Given the description of an element on the screen output the (x, y) to click on. 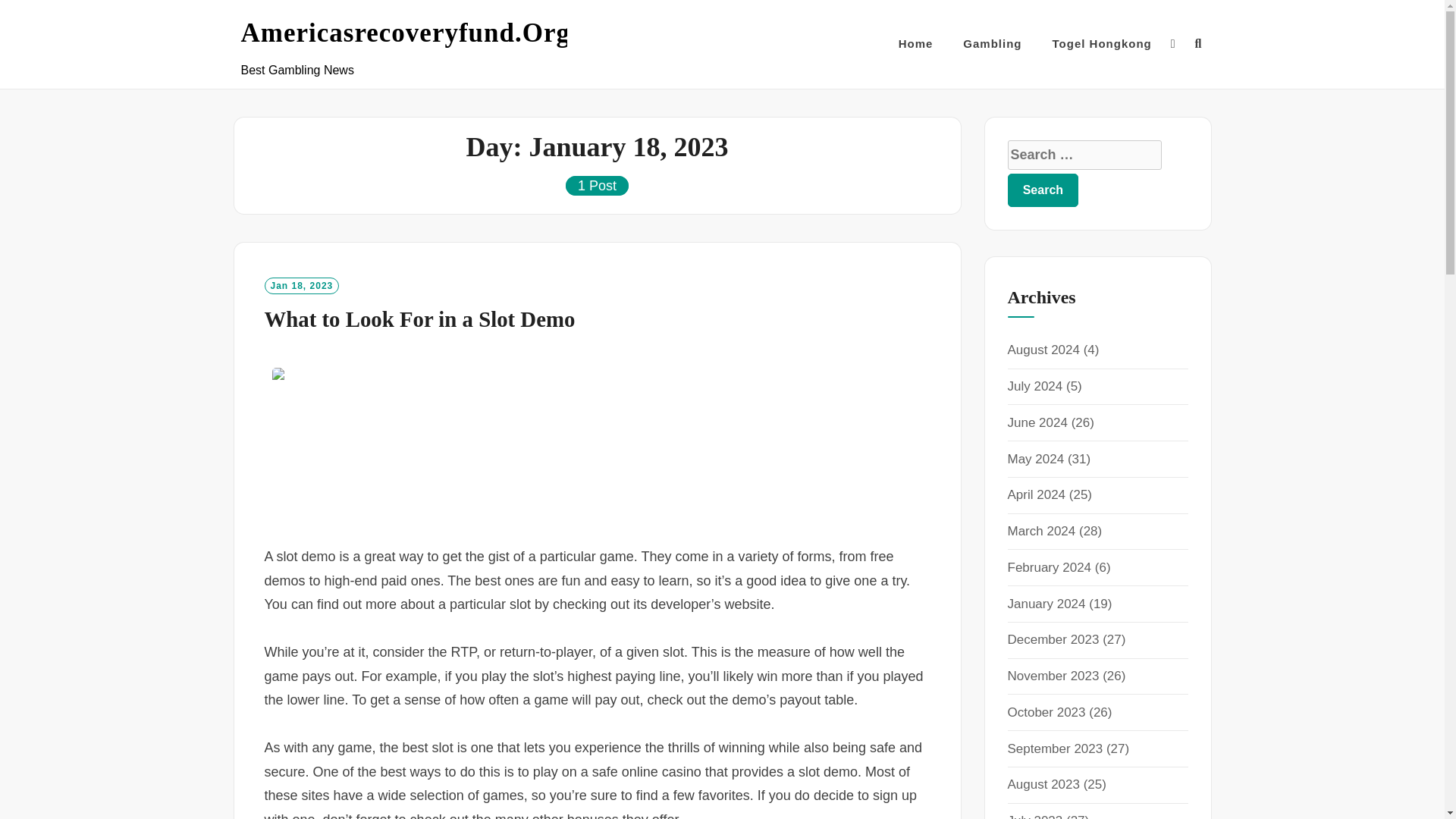
Search (1042, 190)
March 2024 (1041, 531)
May 2024 (1035, 459)
April 2024 (1036, 494)
Togel Hongkong (1101, 44)
August 2024 (1042, 350)
August 2023 (1042, 784)
June 2024 (1037, 422)
Search (1042, 190)
Gambling (992, 44)
